Given the description of an element on the screen output the (x, y) to click on. 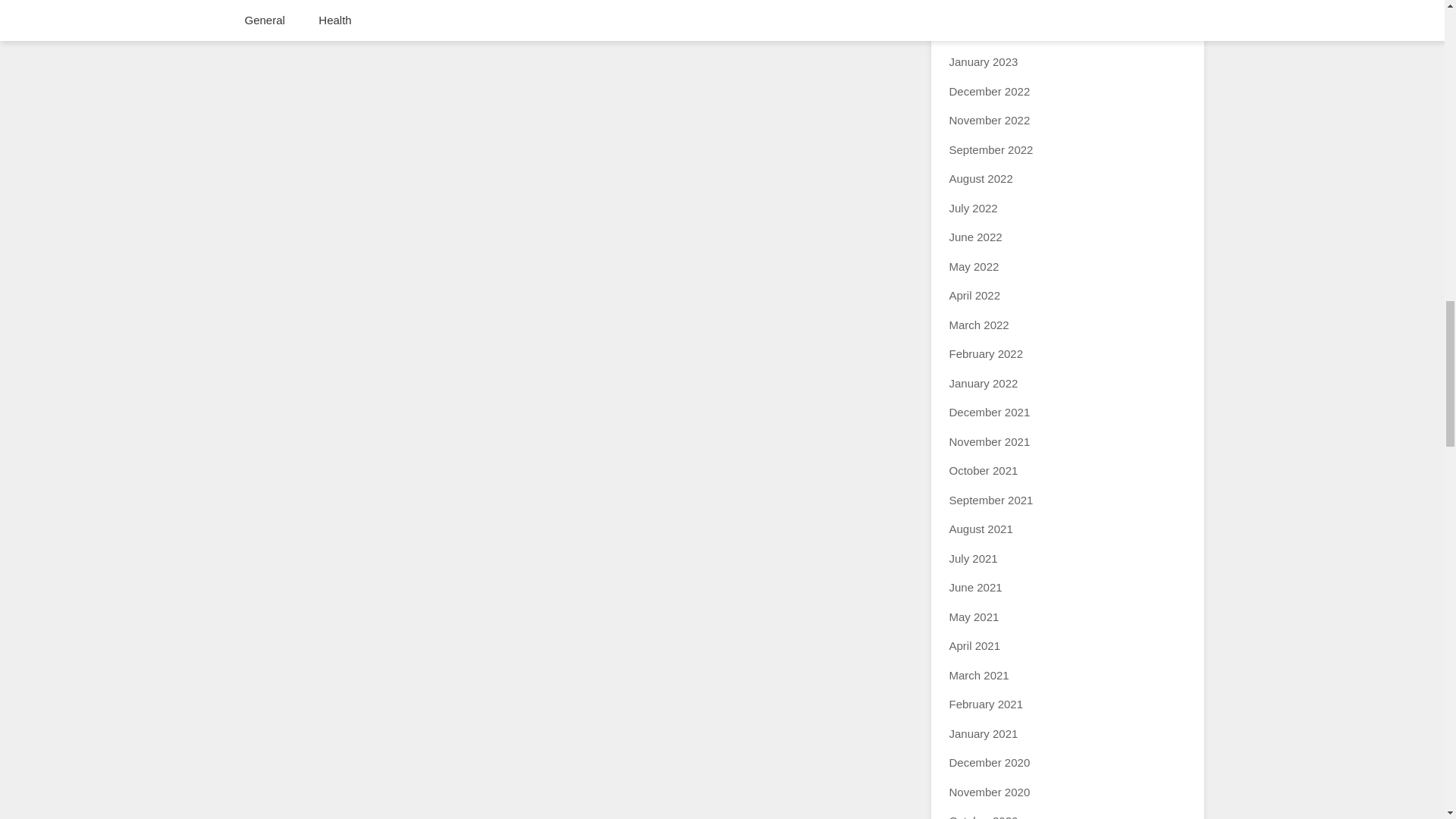
August 2022 (981, 178)
January 2023 (983, 61)
February 2023 (986, 32)
November 2022 (989, 119)
September 2022 (991, 149)
December 2022 (989, 91)
March 2023 (979, 4)
